Given the description of an element on the screen output the (x, y) to click on. 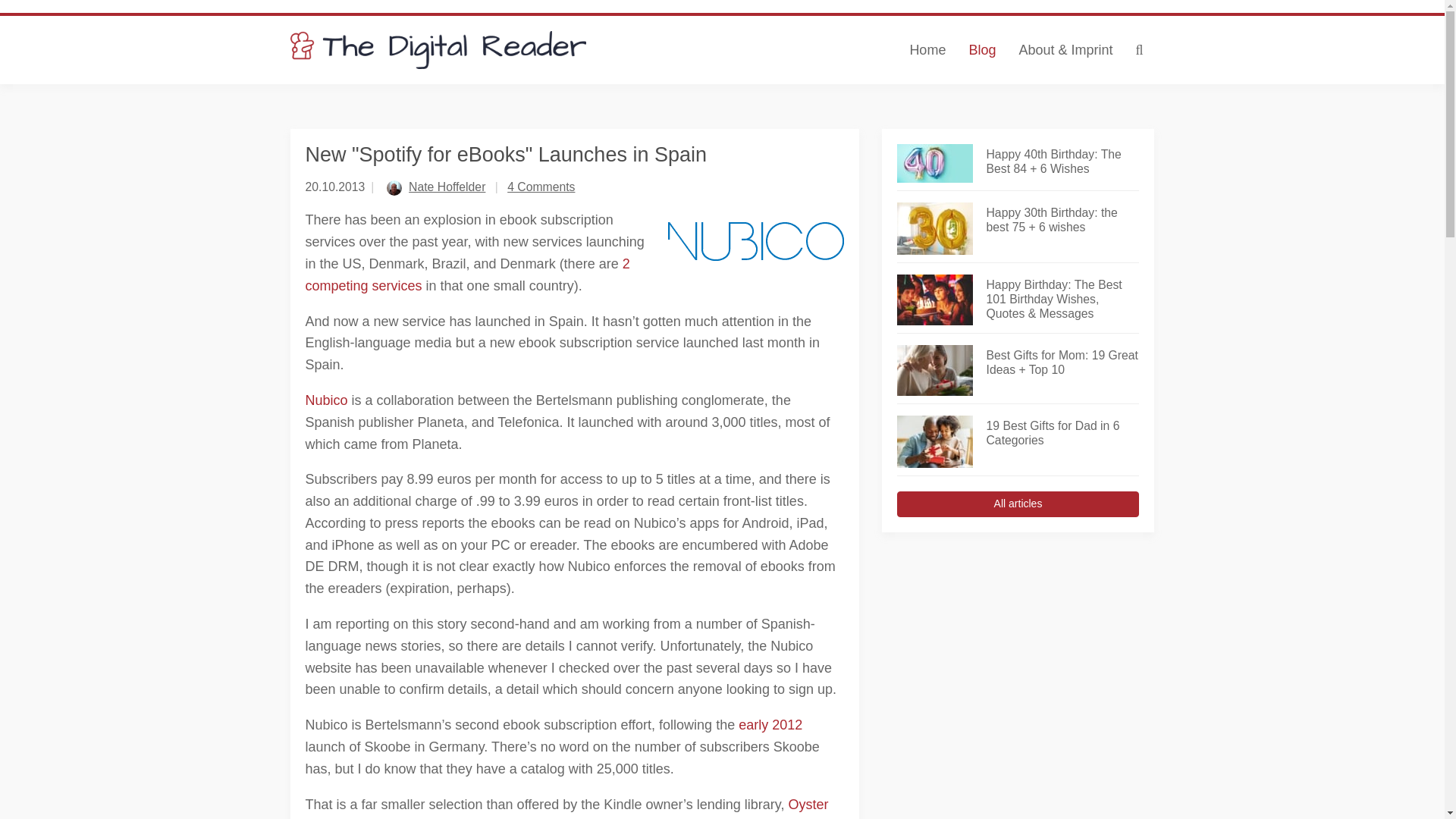
early 2012 (770, 724)
Home (927, 49)
The Digital Reader (437, 49)
2 competing services (466, 274)
4 Comments (540, 186)
Nate Hoffelder (446, 186)
Nubico (325, 400)
Blog (981, 49)
